Given the description of an element on the screen output the (x, y) to click on. 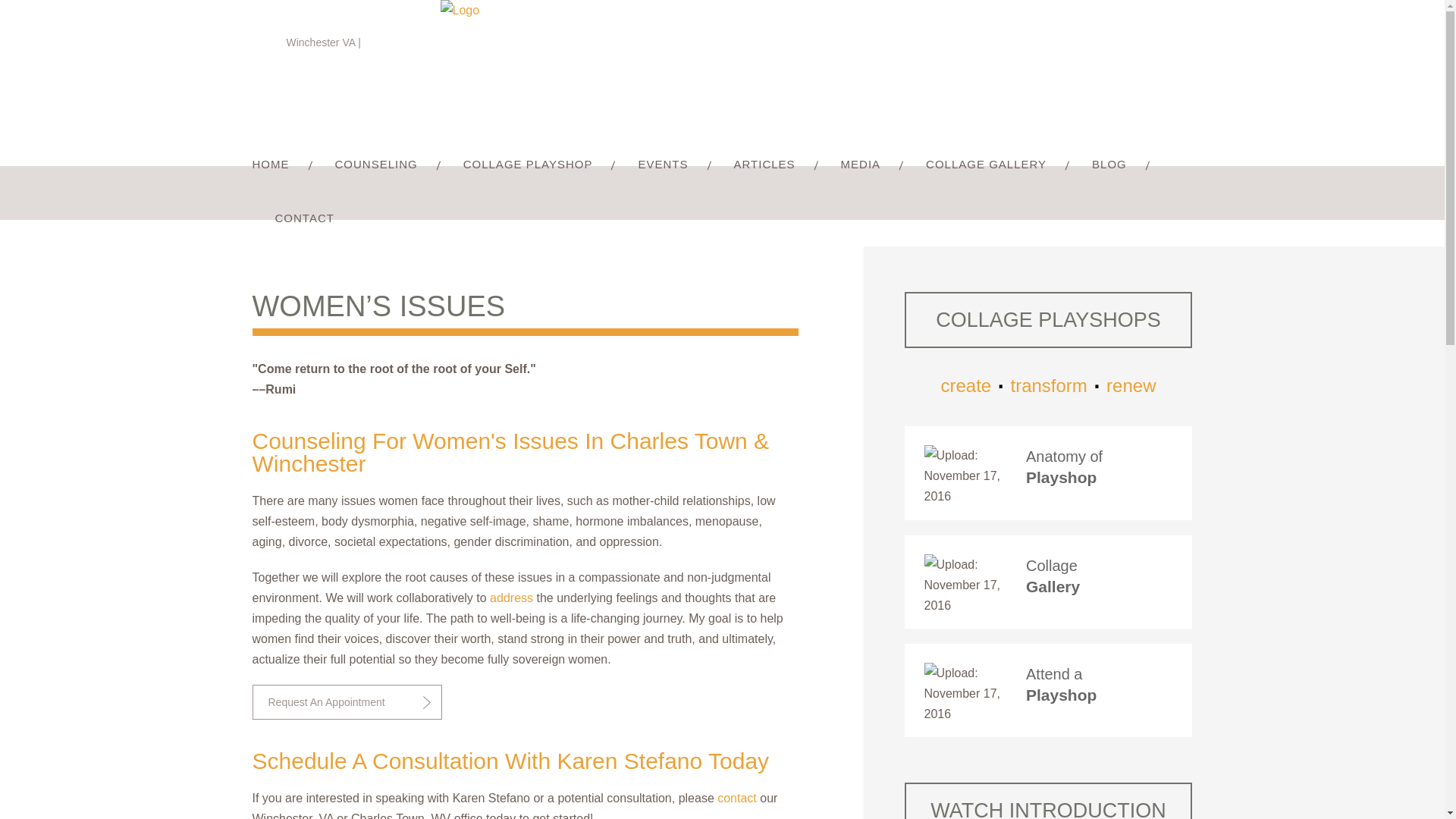
MEDIA (861, 165)
CONTACT (292, 219)
HOME (281, 165)
ARTICLES (764, 165)
EVENTS (662, 165)
BLOG (1109, 165)
COUNSELING (377, 165)
COLLAGE PLAYSHOP (528, 165)
COLLAGE GALLERY (985, 165)
